Given the description of an element on the screen output the (x, y) to click on. 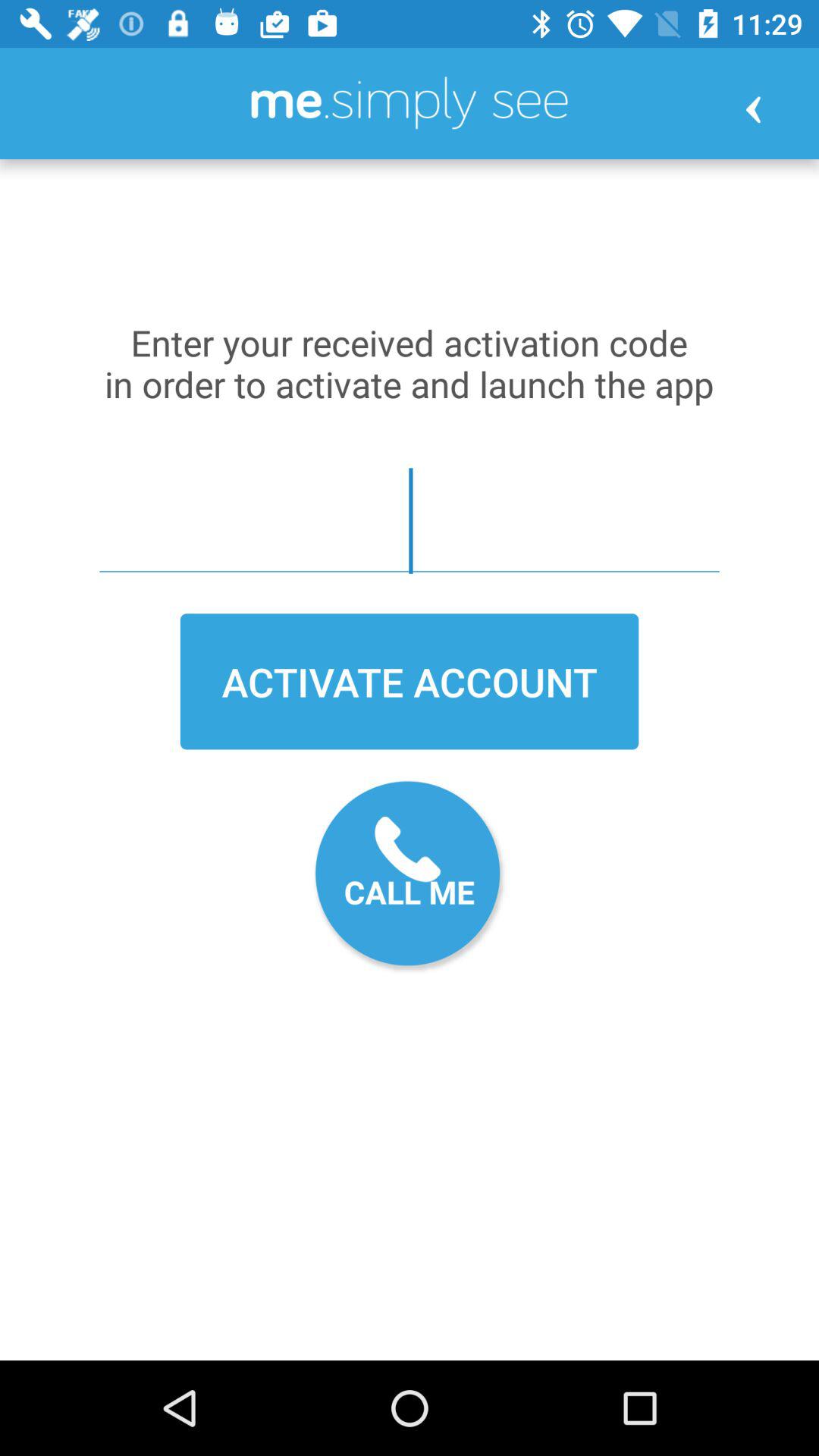
call me (409, 876)
